Given the description of an element on the screen output the (x, y) to click on. 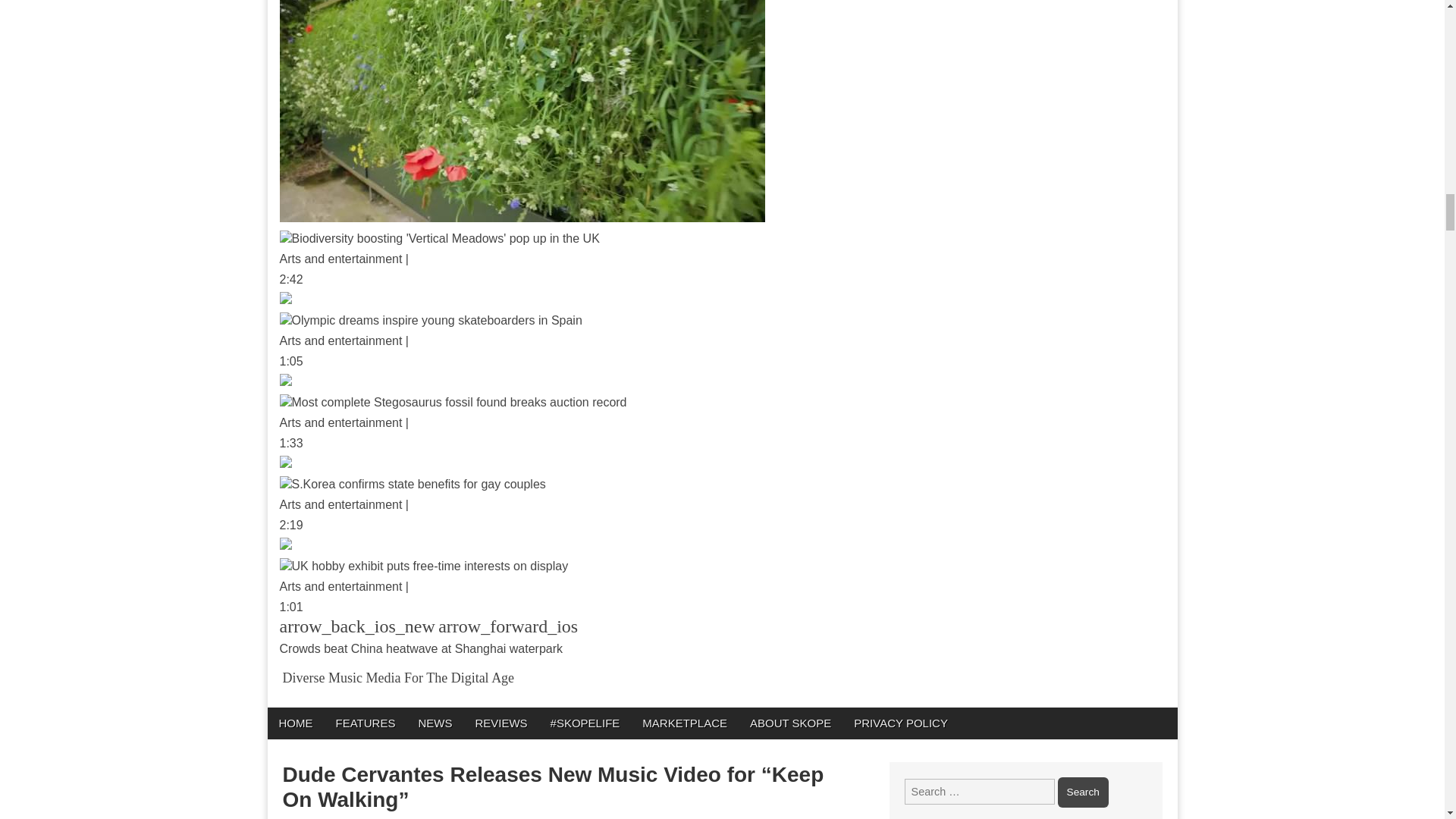
HOME (294, 722)
Posts by Skope (307, 817)
FEATURES (365, 722)
Search (1083, 792)
ABOUT SKOPE (790, 722)
PRIVACY POLICY (901, 722)
MARKETPLACE (684, 722)
NEWS (434, 722)
REVIEWS (500, 722)
Skope (307, 817)
Search (1083, 792)
Search (1083, 792)
